Given the description of an element on the screen output the (x, y) to click on. 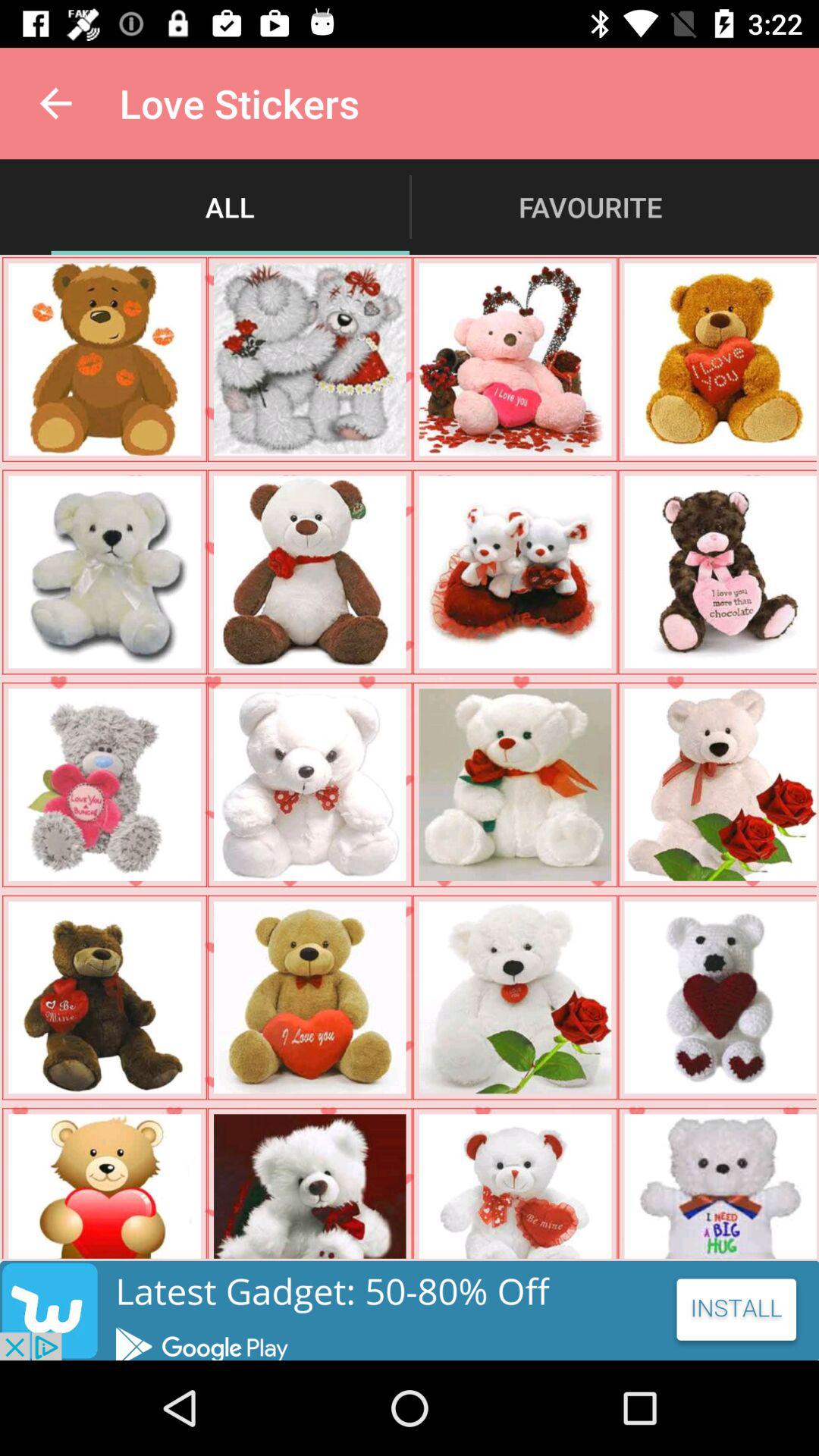
its an advertisement (409, 1310)
